Given the description of an element on the screen output the (x, y) to click on. 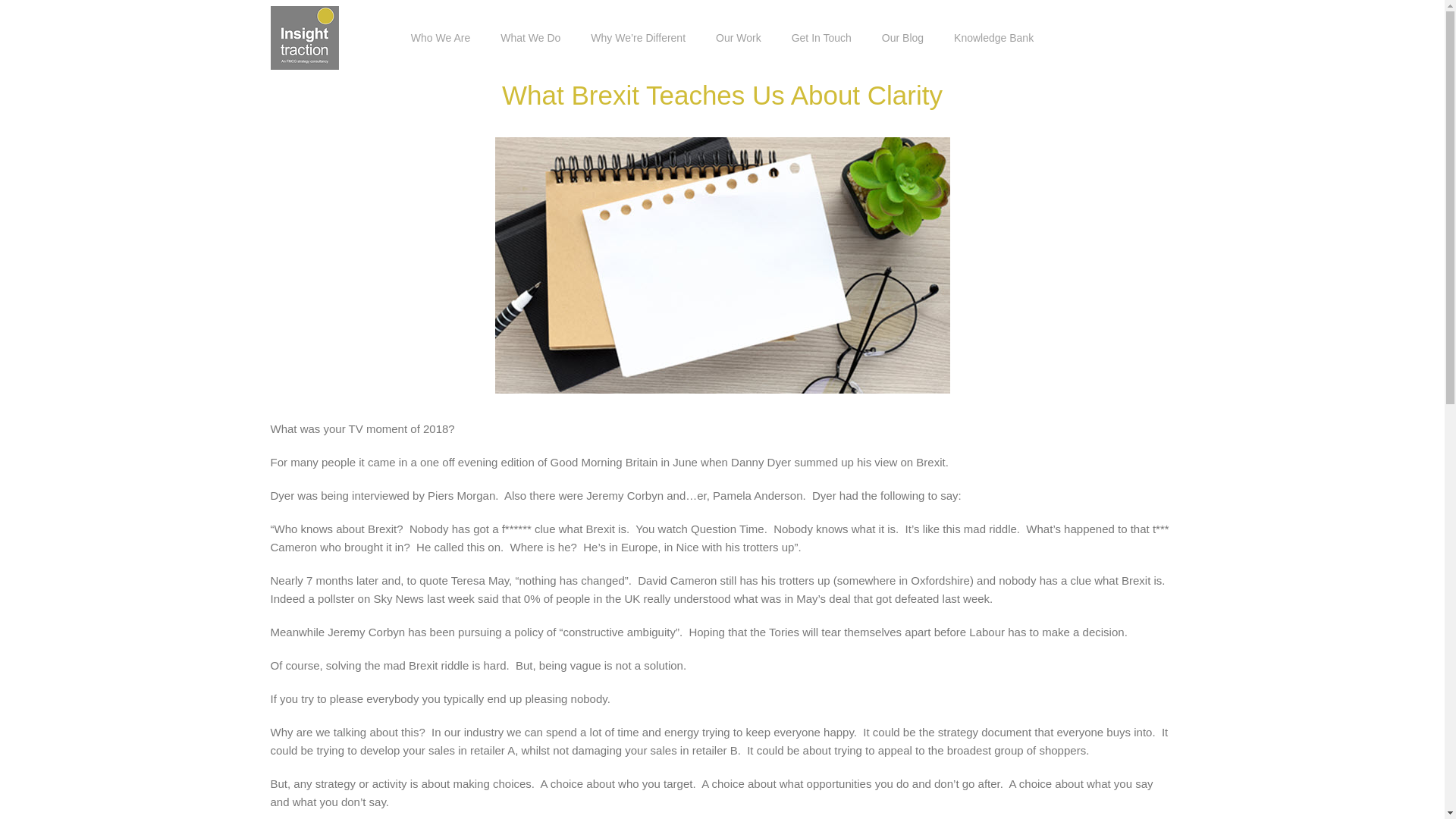
Our Blog (902, 37)
Who We Are (440, 37)
Lead blog image resized (722, 265)
What We Do (530, 37)
Knowledge Bank (993, 37)
Get In Touch (821, 37)
Our Work (738, 37)
